Given the description of an element on the screen output the (x, y) to click on. 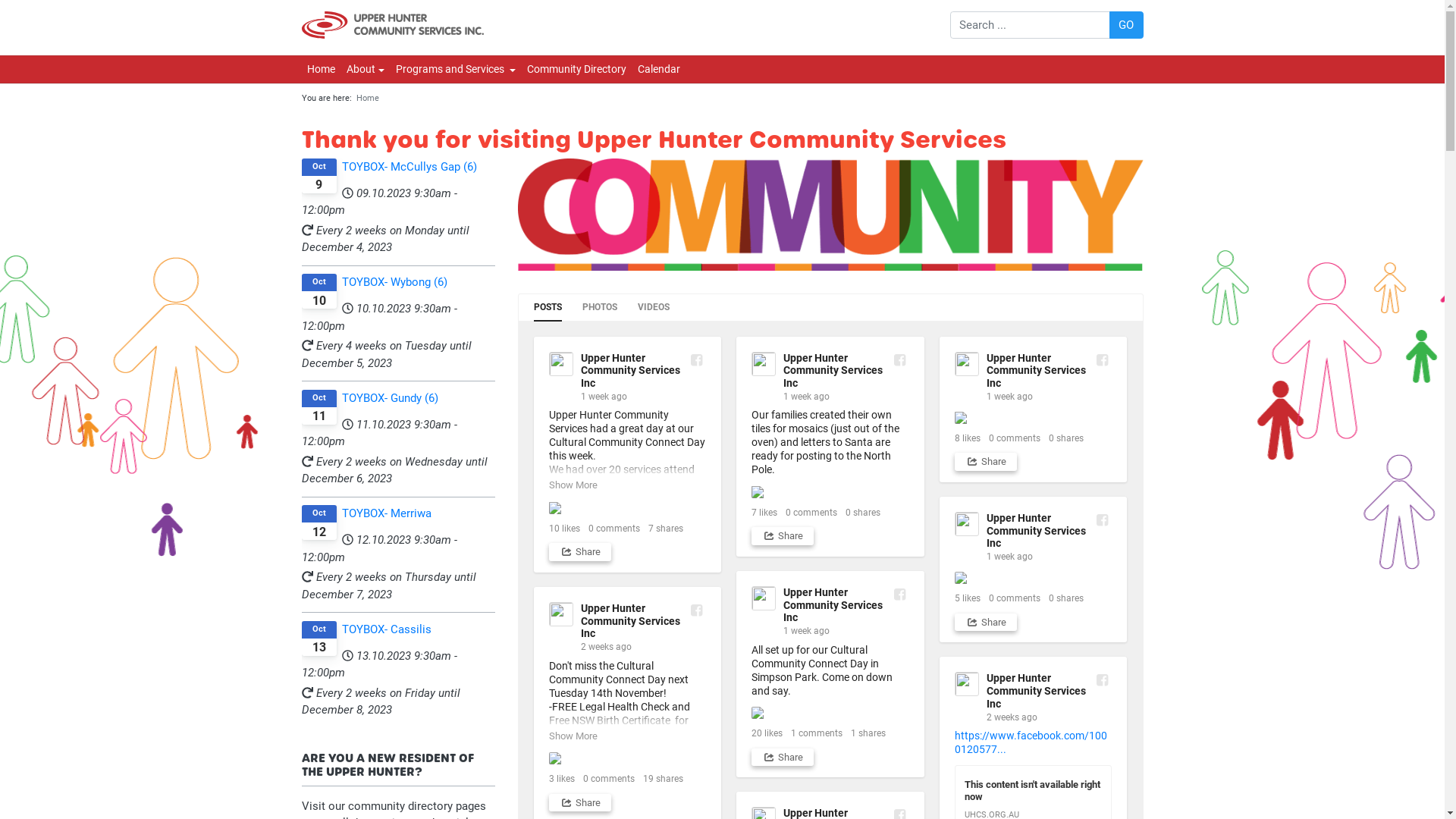
View on Facebook Element type: hover (899, 359)
Share Element type: text (580, 802)
Share Element type: text (985, 461)
Programs and Services Element type: text (454, 69)
GO Element type: text (1126, 24)
Share Element type: text (782, 757)
View on Facebook Element type: hover (1101, 679)
TOYBOX- Cassilis Element type: text (398, 629)
Calendar Element type: text (658, 69)
Upper Hunter Community Services Inc. Element type: hover (392, 24)
https://www.facebook.com/1000120577... Element type: text (1030, 742)
View on Facebook Element type: hover (696, 359)
View on Facebook Element type: hover (899, 594)
Share Element type: text (782, 536)
View on Facebook Element type: hover (1101, 519)
TOYBOX- Wybong (6) Element type: text (398, 282)
Home Element type: text (321, 69)
TOYBOX- Merriwa Element type: text (398, 513)
Share Element type: text (580, 551)
View on Facebook Element type: hover (1101, 359)
Share Element type: text (985, 622)
About Element type: text (365, 69)
View on Facebook Element type: hover (696, 610)
Community Directory Element type: text (575, 69)
TOYBOX- Gundy (6) Element type: text (398, 398)
TOYBOX- McCullys Gap (6) Element type: text (398, 166)
